Given the description of an element on the screen output the (x, y) to click on. 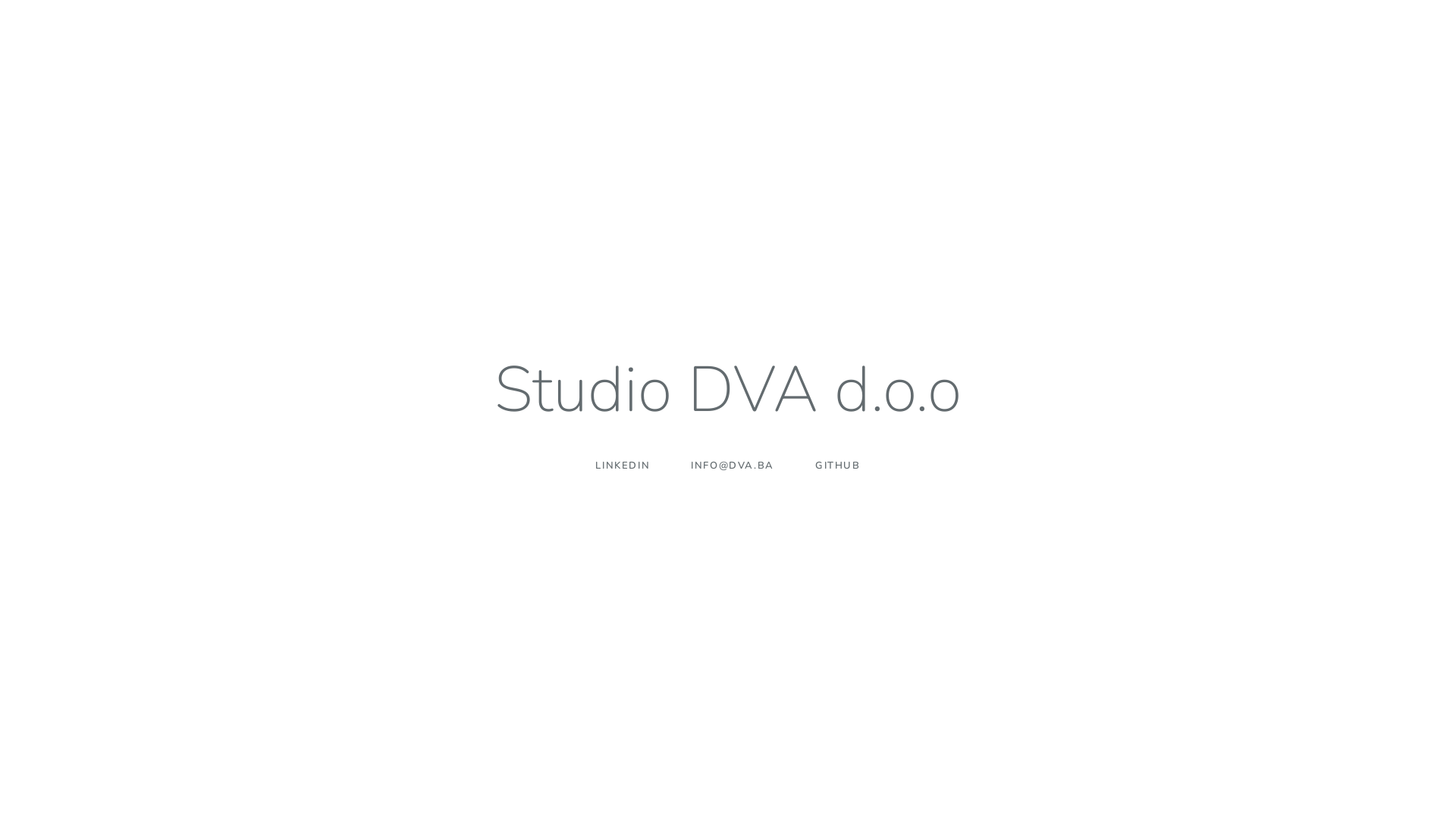
LINKEDIN Element type: text (622, 464)
INFO@DVA.BA Element type: text (732, 464)
GITHUB Element type: text (837, 464)
